Given the description of an element on the screen output the (x, y) to click on. 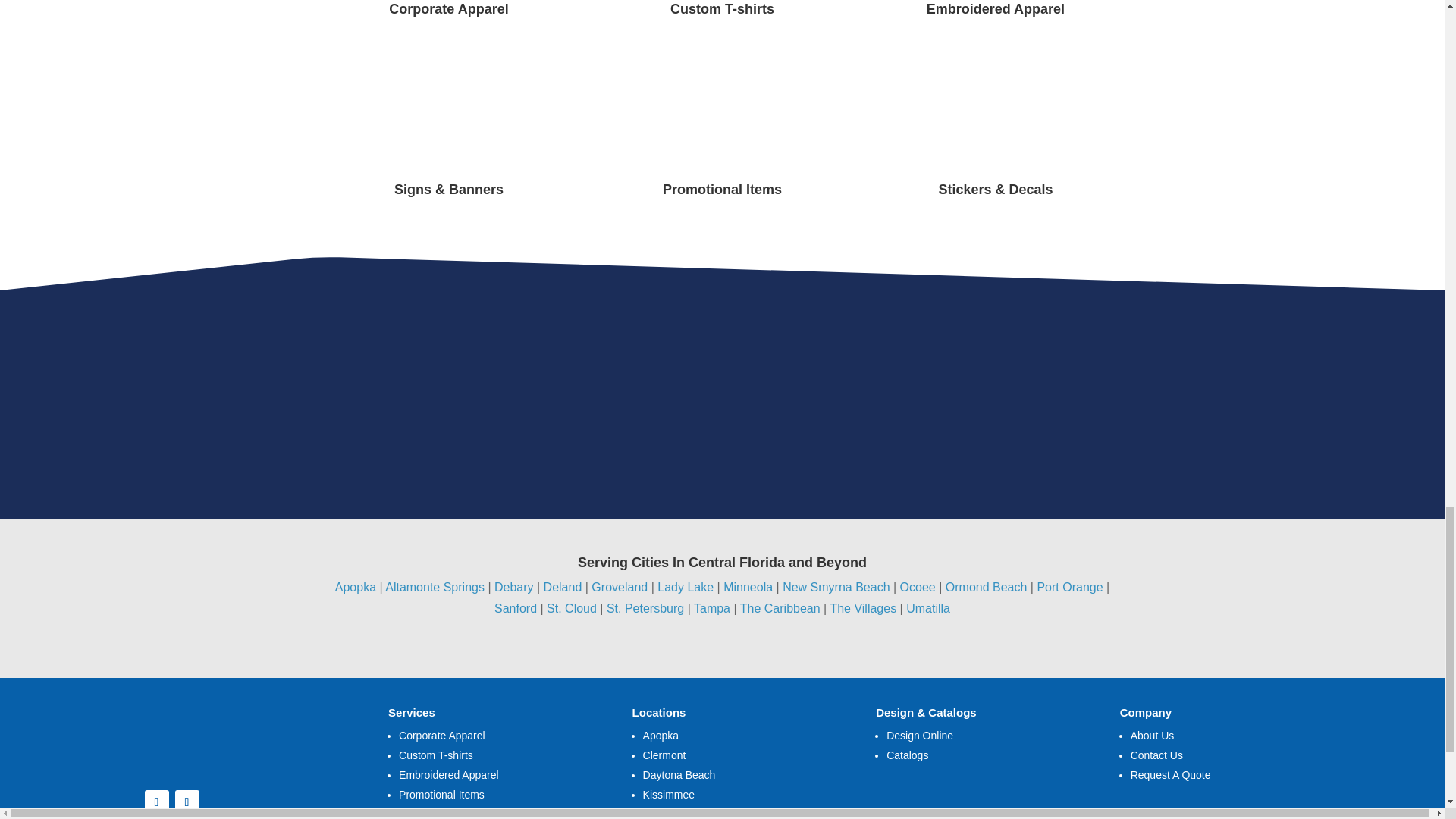
gildan (208, 379)
Follow on Youtube (186, 802)
Follow on Facebook (156, 802)
nike (684, 385)
badger (1192, 385)
logo-web (234, 732)
pc (955, 385)
